Given the description of an element on the screen output the (x, y) to click on. 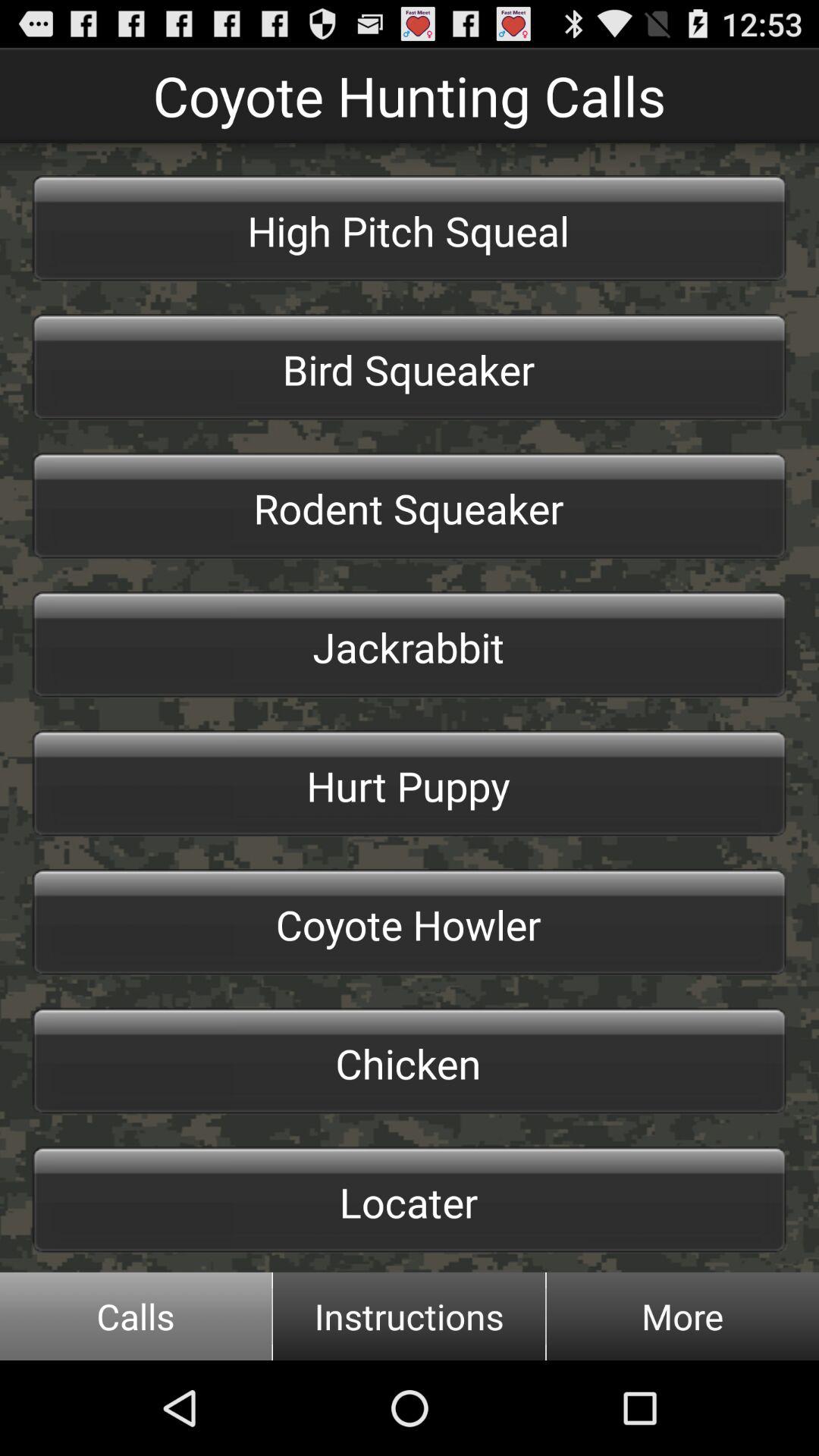
tap the item below the bird squeaker item (409, 505)
